Given the description of an element on the screen output the (x, y) to click on. 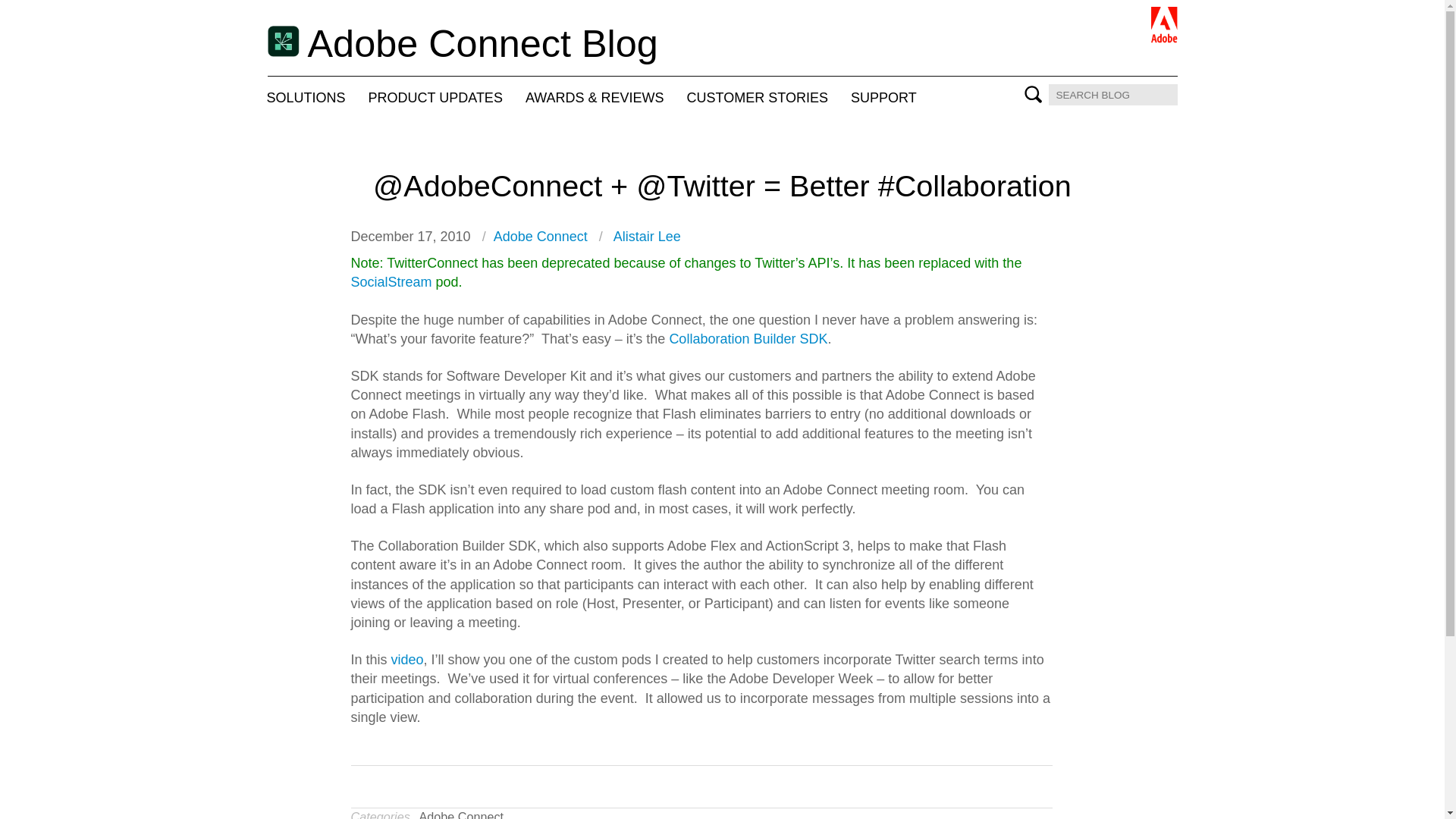
Adobe Connect (461, 814)
video (405, 659)
PRODUCT UPDATES (435, 98)
Adobe Connect (540, 236)
SOLUTIONS (305, 98)
Alistair Lee (646, 236)
SUPPORT (883, 98)
Collaboration Builder SDK (747, 338)
Adobe Connect Blog (462, 44)
Social Stream Pod (390, 281)
Posts by Alistair Lee (646, 236)
CUSTOMER STORIES (756, 98)
SocialStream (390, 281)
View all posts in Adobe Connect (461, 814)
